Given the description of an element on the screen output the (x, y) to click on. 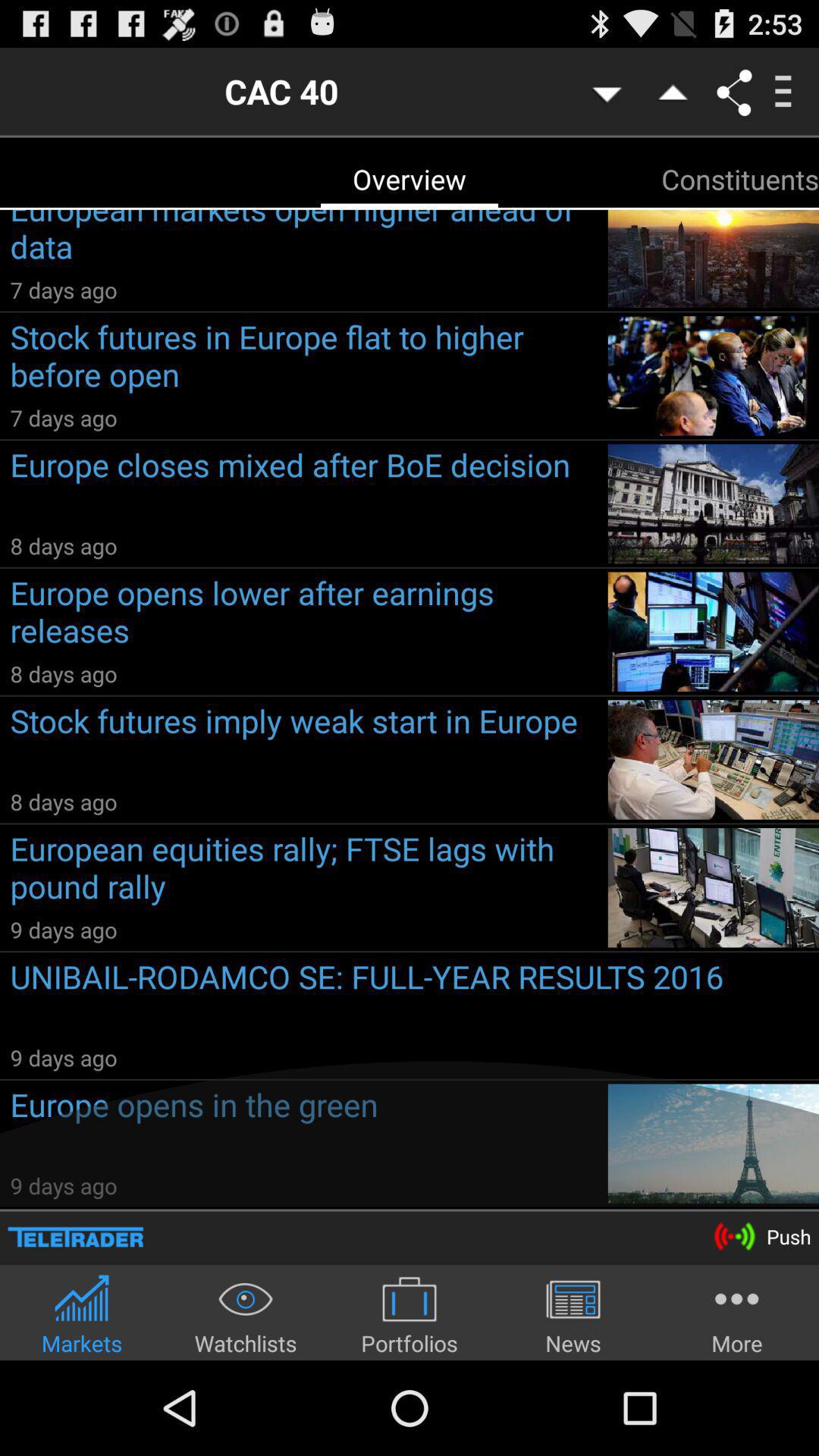
choose the european equities rally (303, 870)
